Given the description of an element on the screen output the (x, y) to click on. 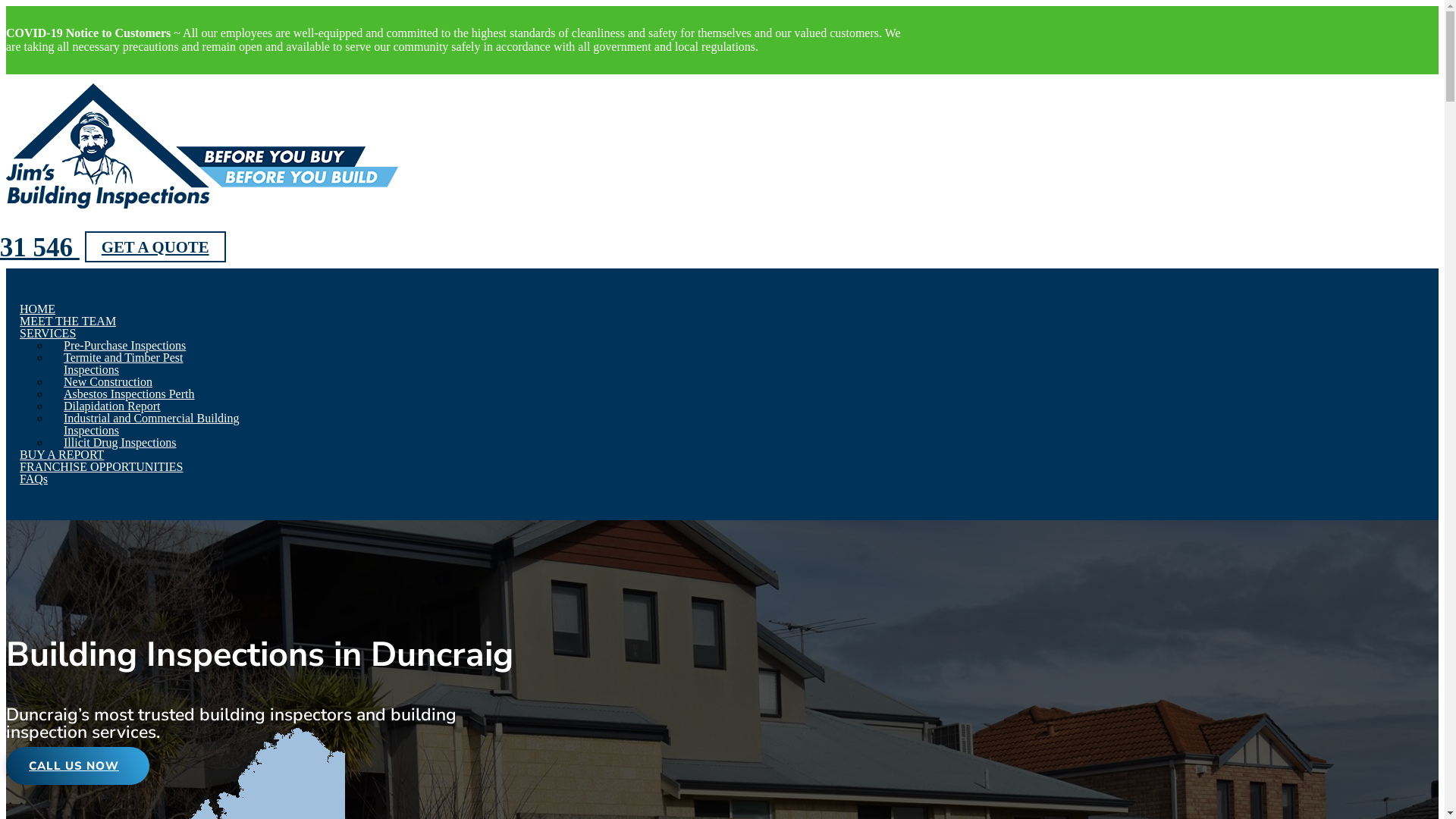
Asbestos Inspections Perth Element type: text (128, 393)
131 546 Element type: text (42, 247)
SERVICES Element type: text (47, 332)
Termite and Timber Pest Inspections Element type: text (123, 363)
FRANCHISE OPPORTUNITIES Element type: text (101, 466)
FAQs Element type: text (33, 478)
Illicit Drug Inspections Element type: text (119, 442)
Industrial and Commercial Building Inspections Element type: text (151, 423)
HOME Element type: text (37, 308)
Pre-Purchase Inspections Element type: text (124, 344)
CALL US NOW Element type: text (77, 765)
New Construction Element type: text (107, 381)
BUY A REPORT Element type: text (61, 454)
GET A QUOTE Element type: text (154, 246)
MEET THE TEAM Element type: text (67, 320)
Dilapidation Report Element type: text (111, 405)
